Given the description of an element on the screen output the (x, y) to click on. 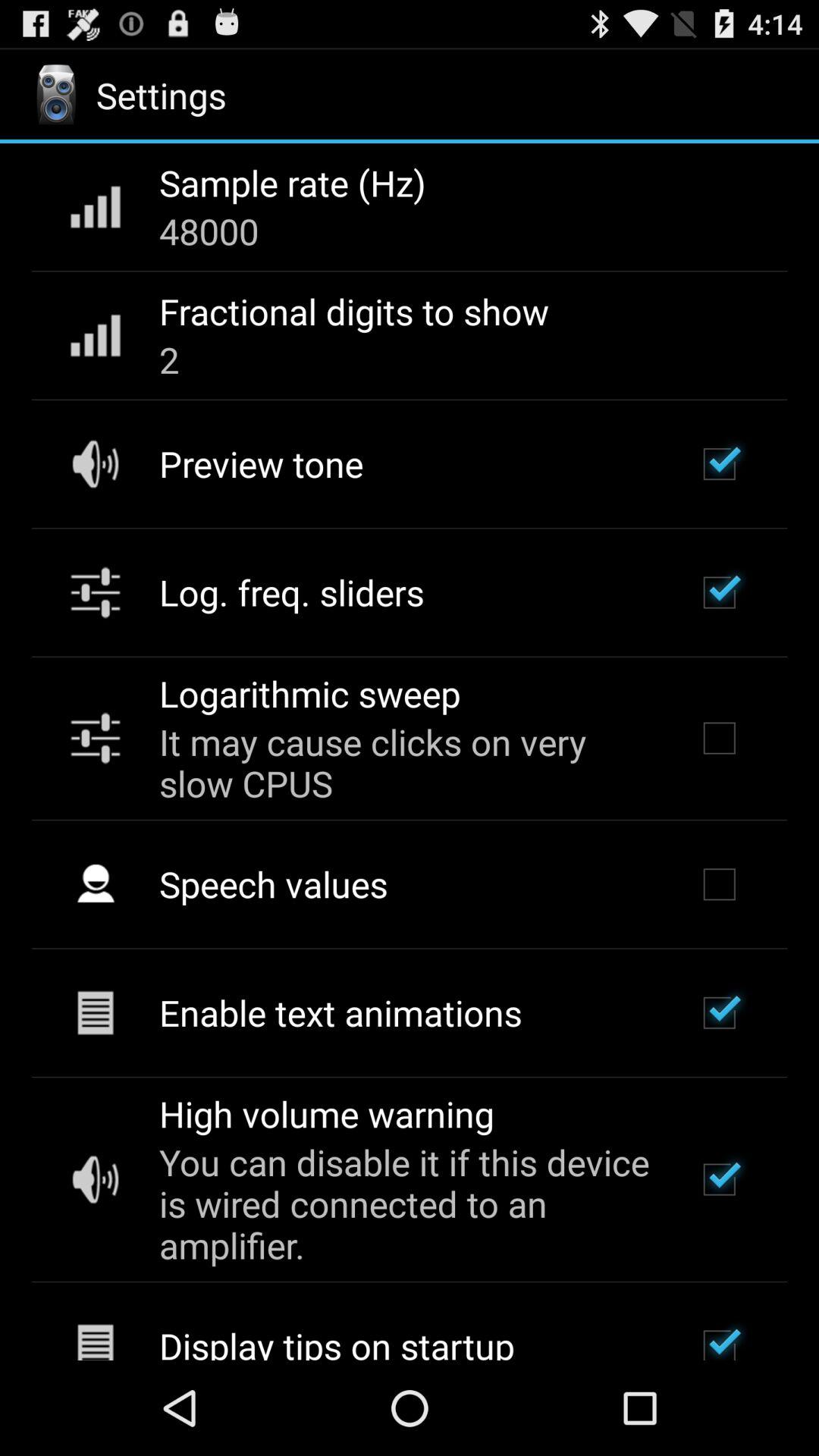
choose the app below the log. freq. sliders icon (309, 693)
